Given the description of an element on the screen output the (x, y) to click on. 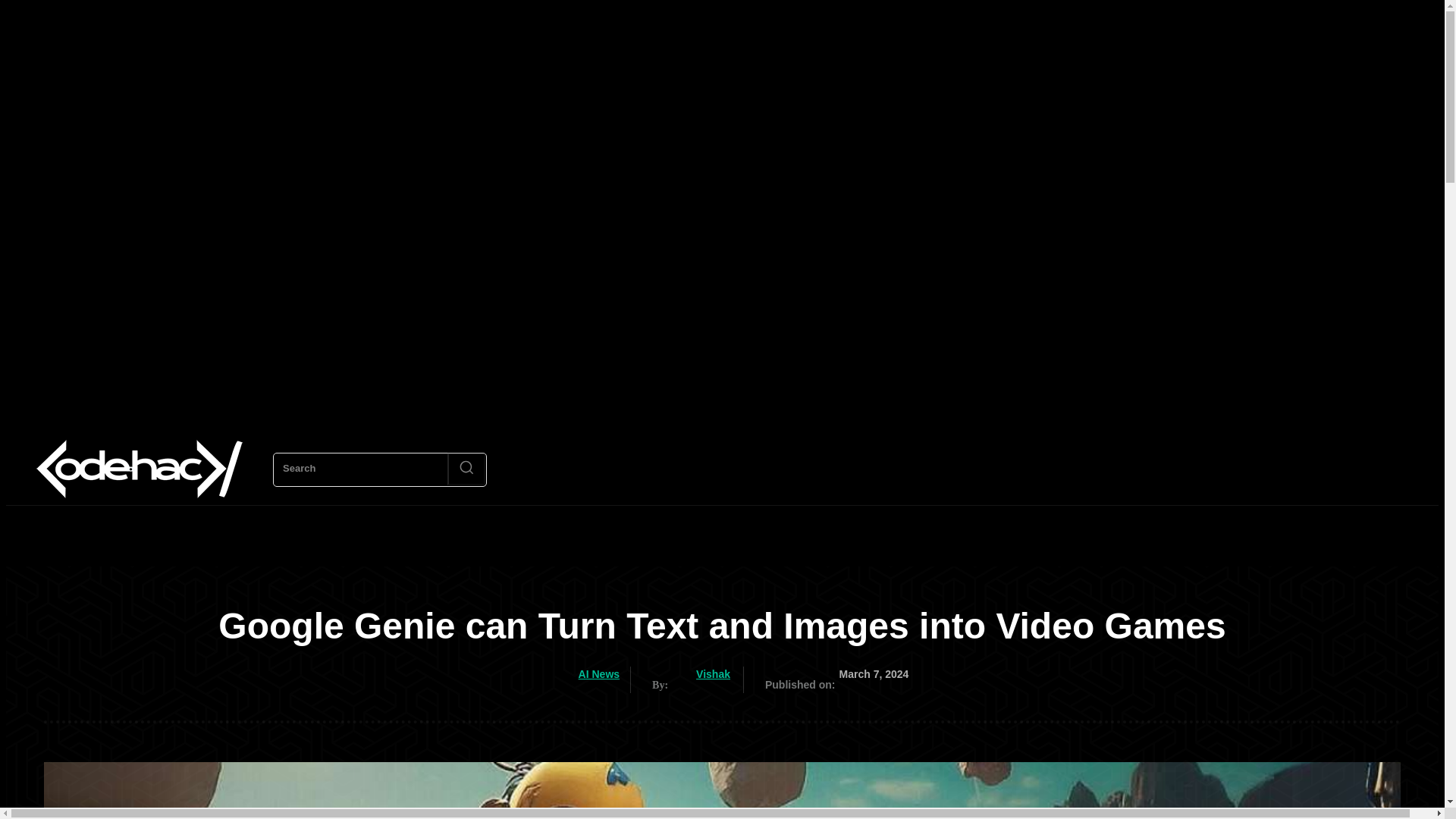
Vishak (684, 673)
Vishak (712, 674)
AI News (599, 674)
